Given the description of an element on the screen output the (x, y) to click on. 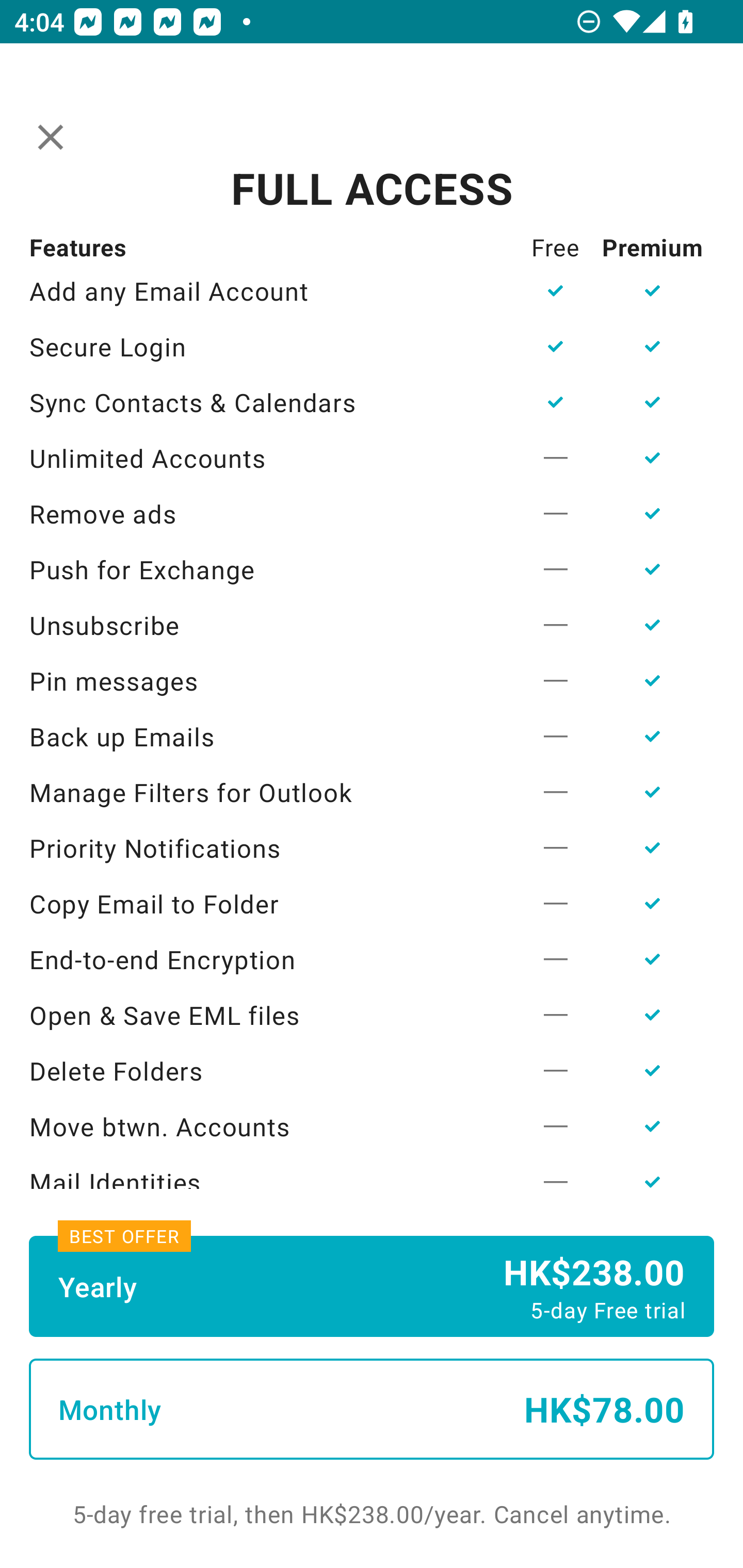
Yearly HK$238.00 5-day Free trial (371, 1286)
Monthly HK$78.00 (371, 1408)
